Given the description of an element on the screen output the (x, y) to click on. 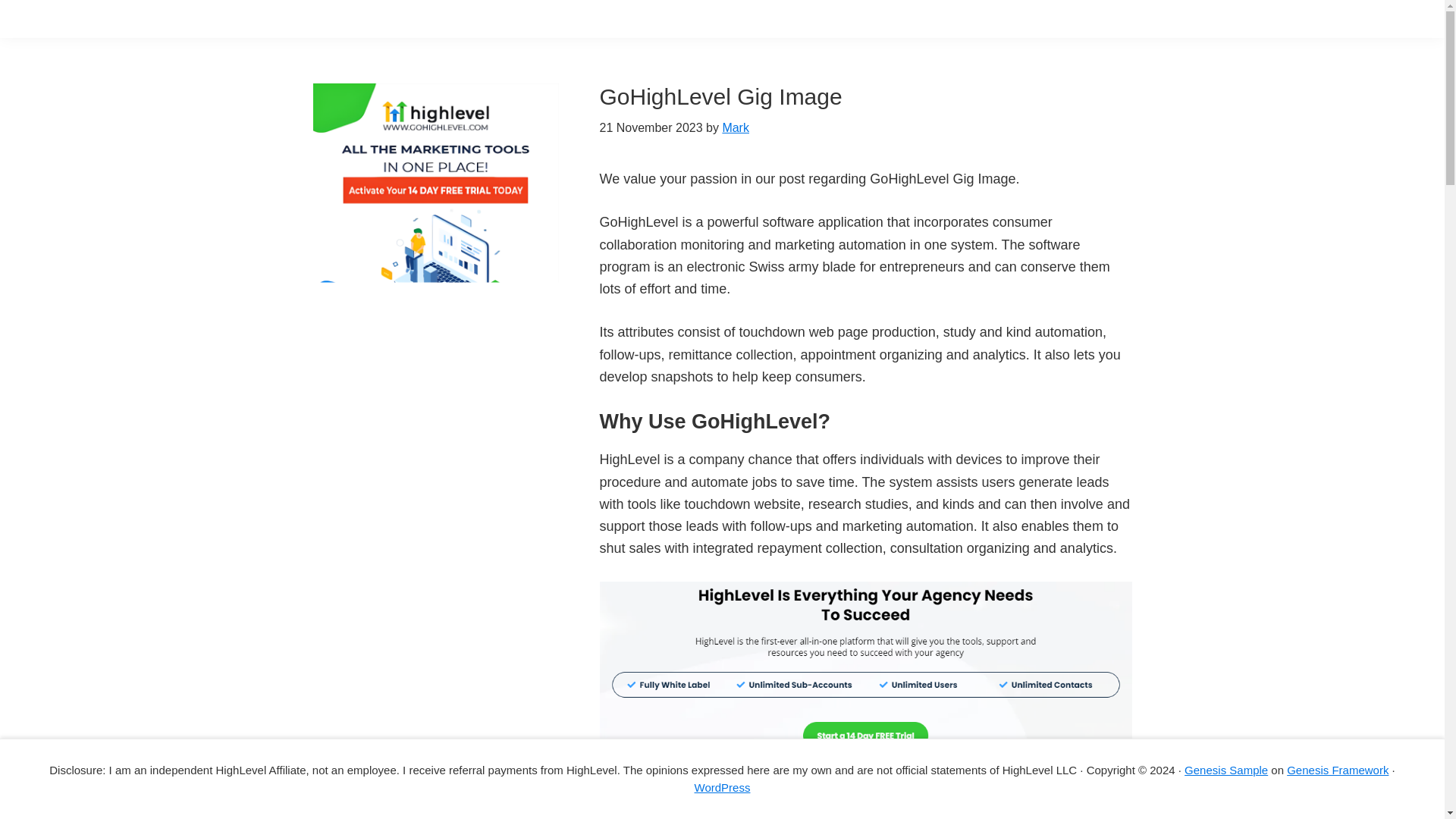
WordPress (722, 787)
Genesis Framework (1338, 769)
Mark (735, 127)
Genesis Sample (1226, 769)
